Given the description of an element on the screen output the (x, y) to click on. 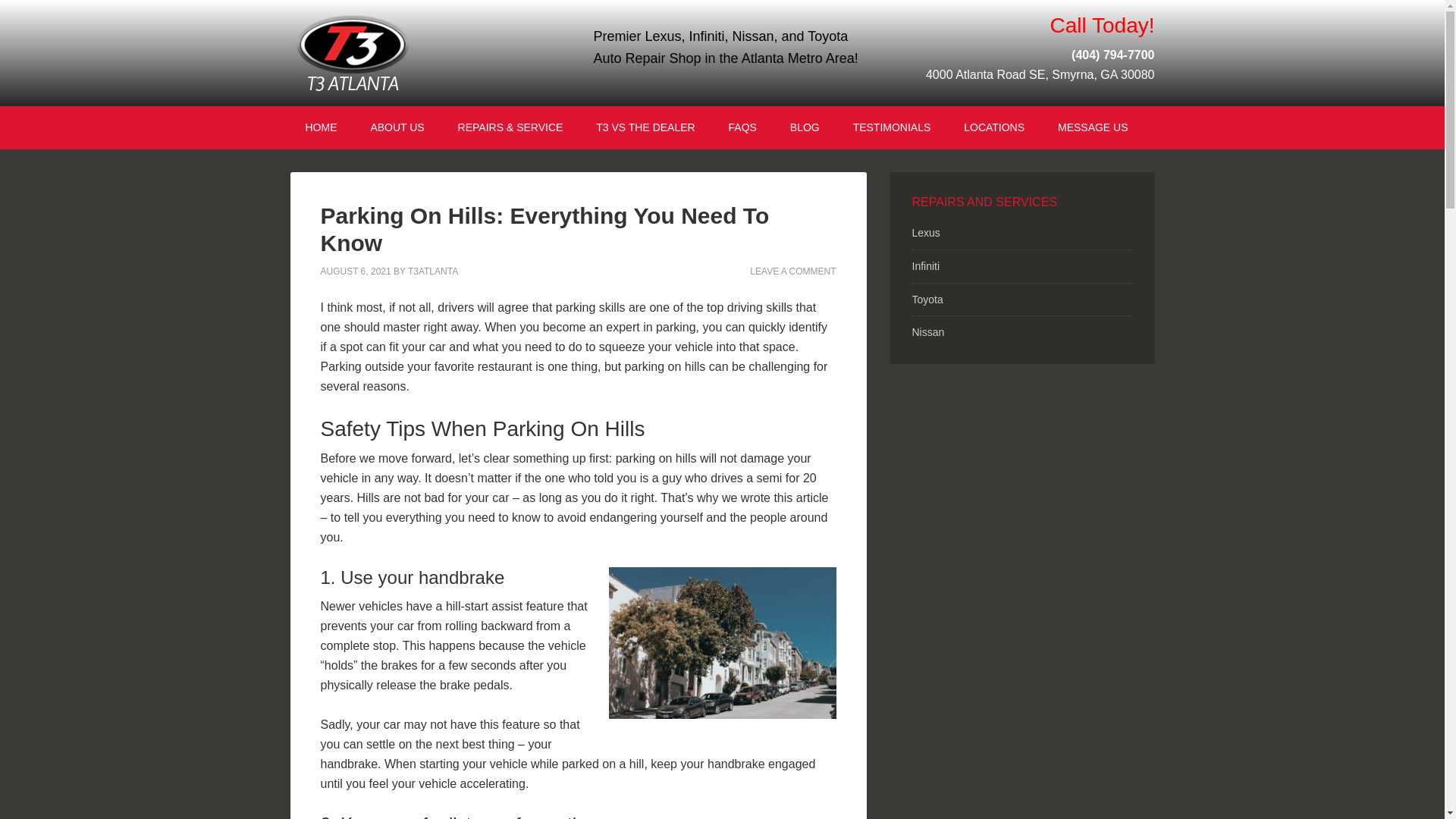
MESSAGE US (1092, 127)
FAQS (742, 127)
LOCATIONS (994, 127)
Infiniti (925, 265)
ABOUT US (397, 127)
Toyota (926, 299)
T3 VS THE DEALER (645, 127)
Nissan (927, 331)
Lexus (925, 232)
BLOG (804, 127)
LEAVE A COMMENT (792, 271)
TESTIMONIALS (892, 127)
T3 ATLANTA (418, 52)
T3ATLANTA (432, 271)
HOME (320, 127)
